Given the description of an element on the screen output the (x, y) to click on. 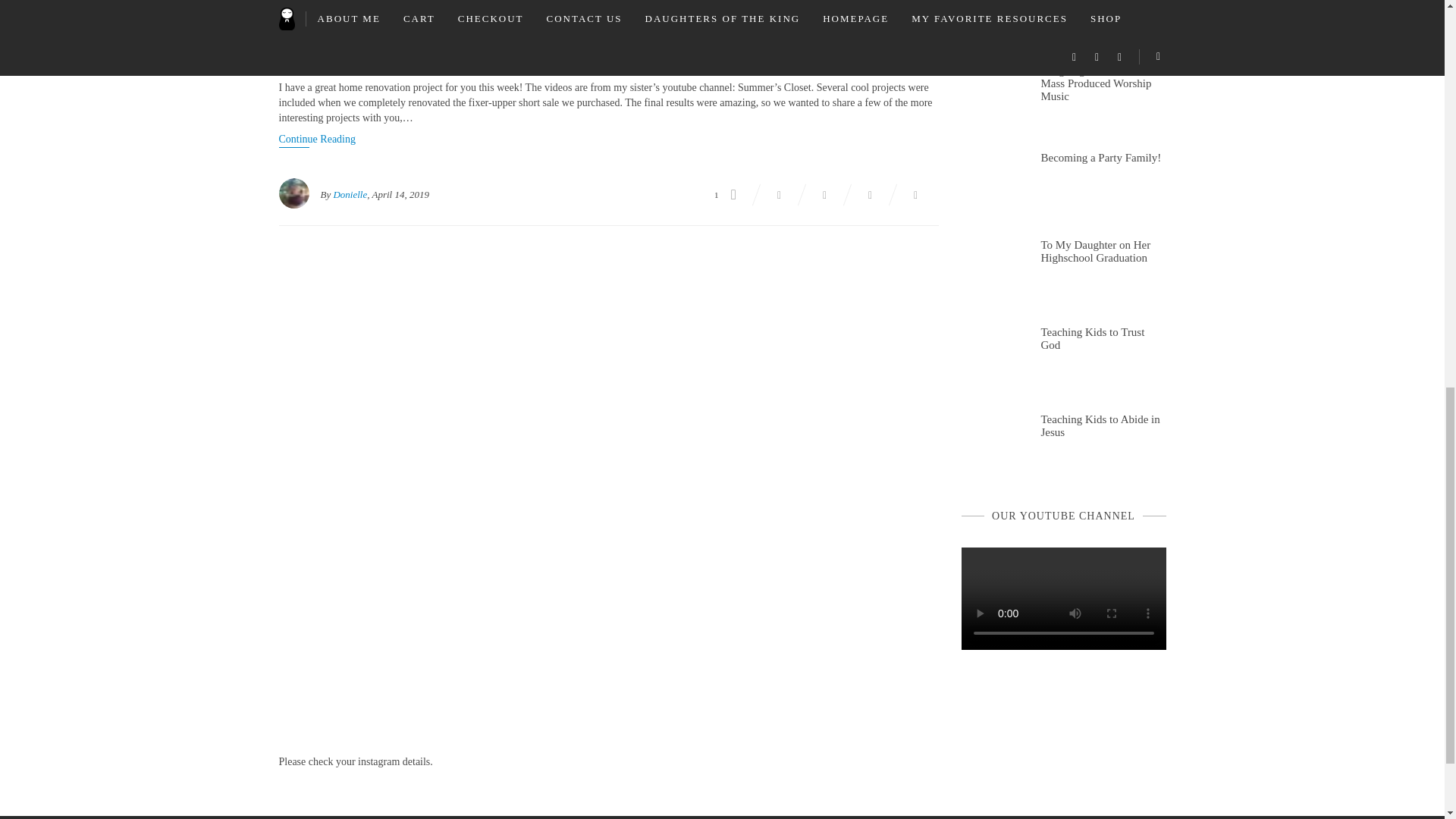
Weighing the Value of Mass Produced Worship Music (1103, 81)
Teaching Kids to Trust God (1103, 337)
Continue Reading (317, 139)
By (325, 193)
To My Daughter on Her Highschool Graduation (1103, 249)
DIY Recycled Glass Mosaic (609, 64)
THE REST OF LIFE (334, 28)
Teaching Kids to Abide in Jesus (1103, 423)
Becoming a Party Family! (1100, 156)
, April 14, 2019 (397, 193)
